Given the description of an element on the screen output the (x, y) to click on. 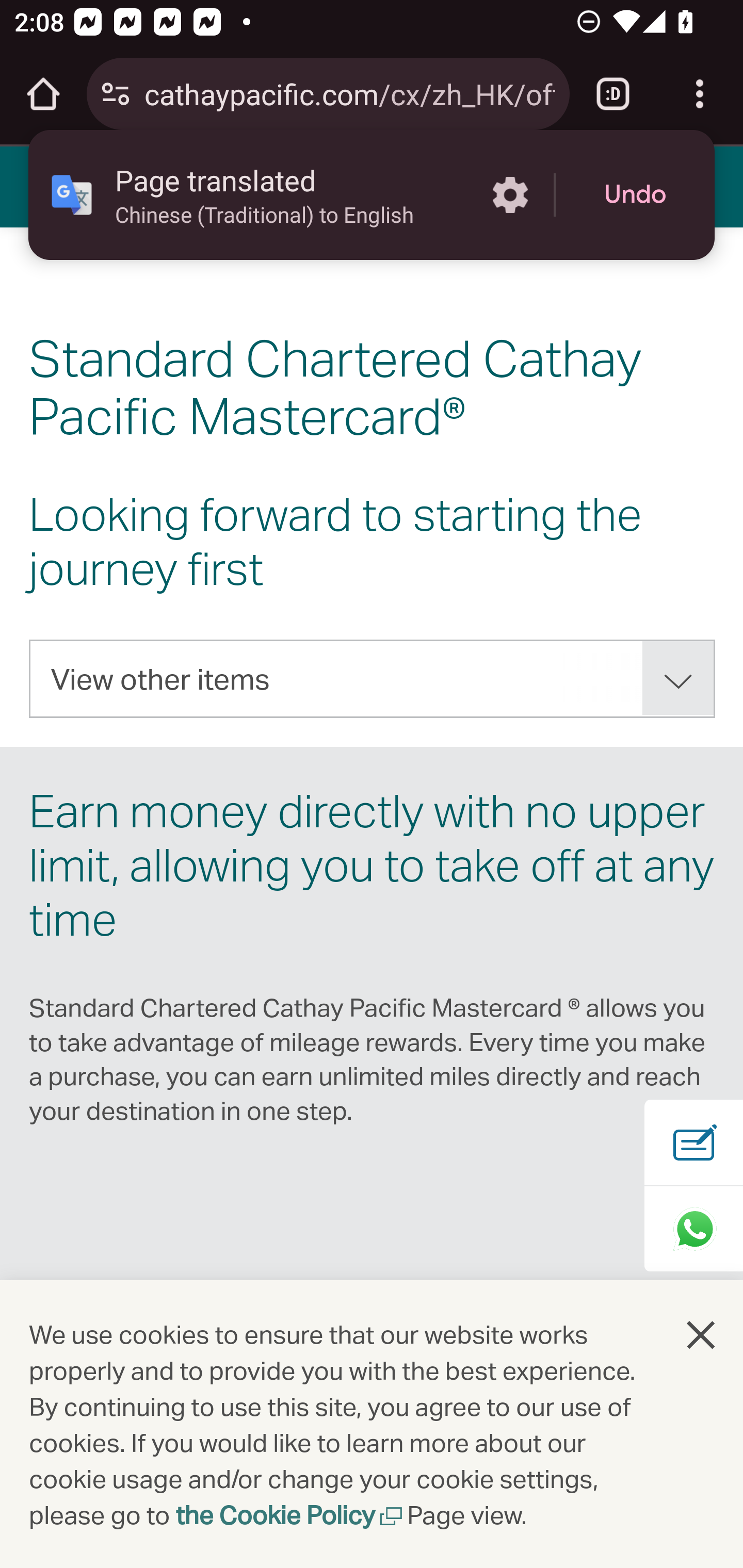
Open the home page (43, 93)
Connection is secure (115, 93)
Switch or close tabs (612, 93)
Customize and control Google Chrome (699, 93)
Undo (634, 195)
Menu (47, 186)
More options in the Page translated (509, 195)
View other items (372, 678)
closure (701, 1334)
